Given the description of an element on the screen output the (x, y) to click on. 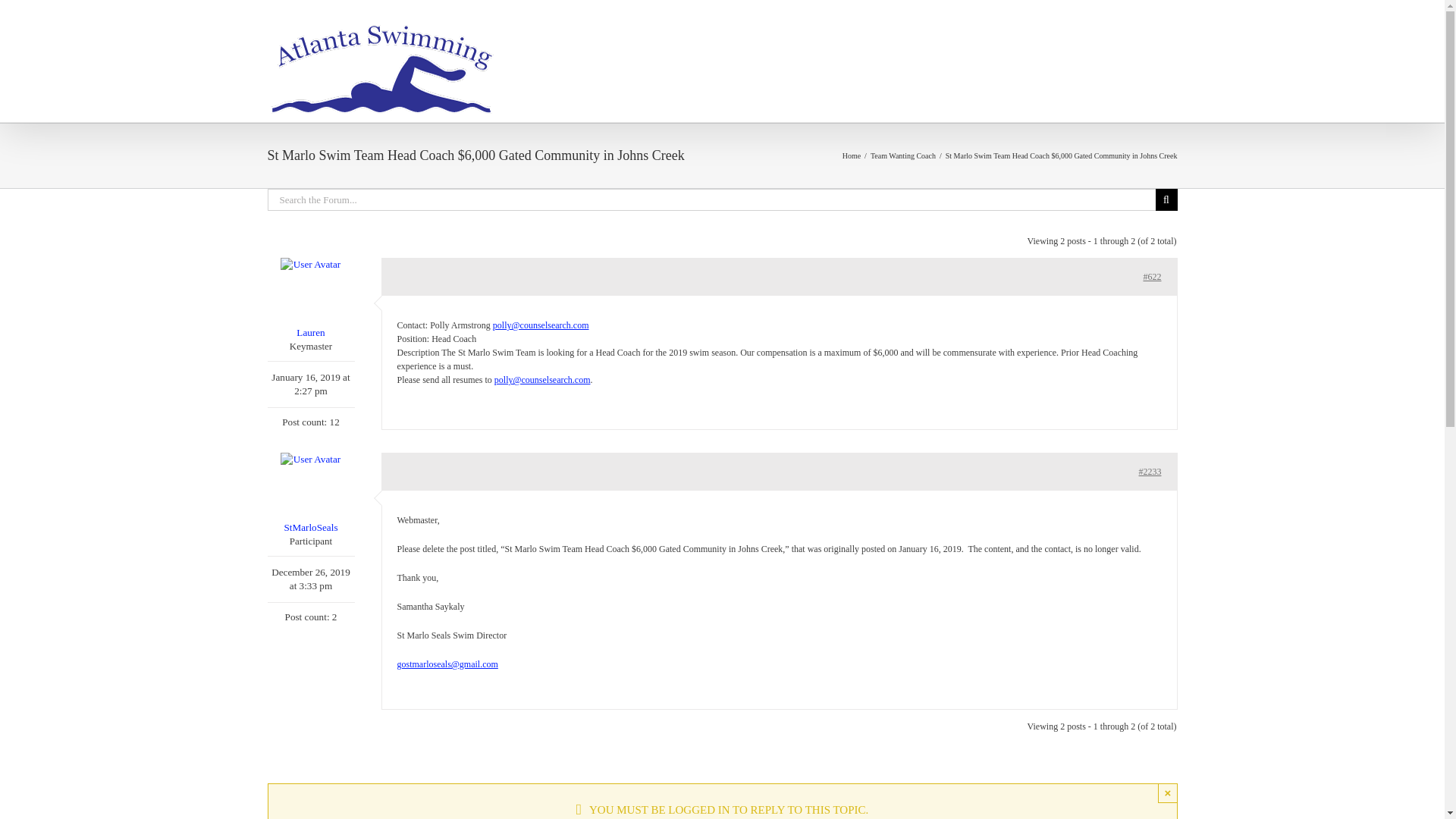
Want Ads (1034, 30)
Swim Leagues (821, 30)
View StMarloSeals's profile (309, 493)
View Lauren's profile (309, 298)
Webcast (897, 30)
Home (707, 30)
Shop (1091, 30)
Education (964, 30)
